Given the description of an element on the screen output the (x, y) to click on. 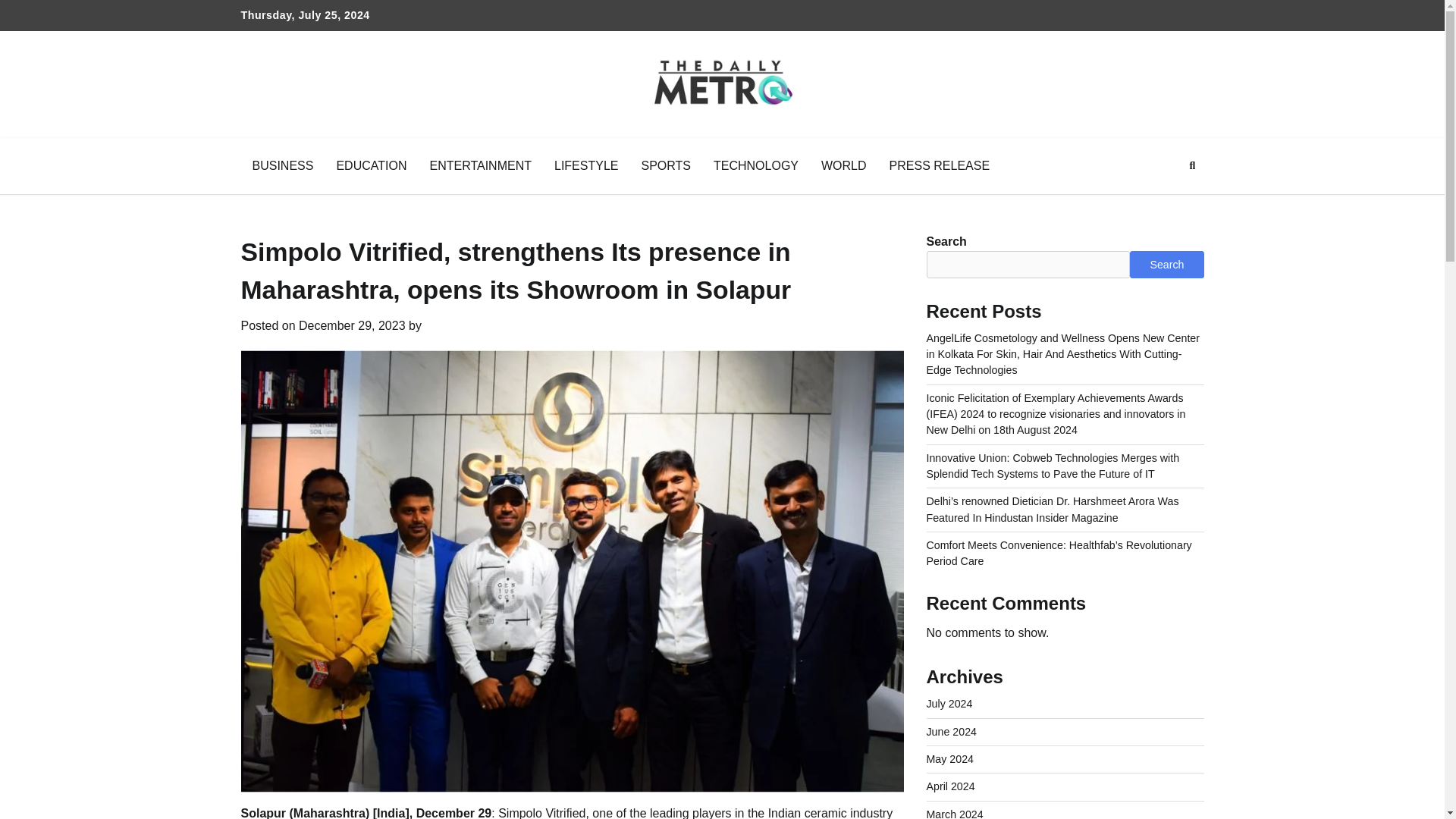
EDUCATION (370, 165)
BUSINESS (282, 165)
June 2024 (951, 731)
SPORTS (664, 165)
December 29, 2023 (352, 325)
July 2024 (949, 703)
Search (1192, 165)
TECHNOLOGY (755, 165)
Search (1164, 201)
May 2024 (950, 758)
WORLD (843, 165)
April 2024 (950, 786)
PRESS RELEASE (939, 165)
